Given the description of an element on the screen output the (x, y) to click on. 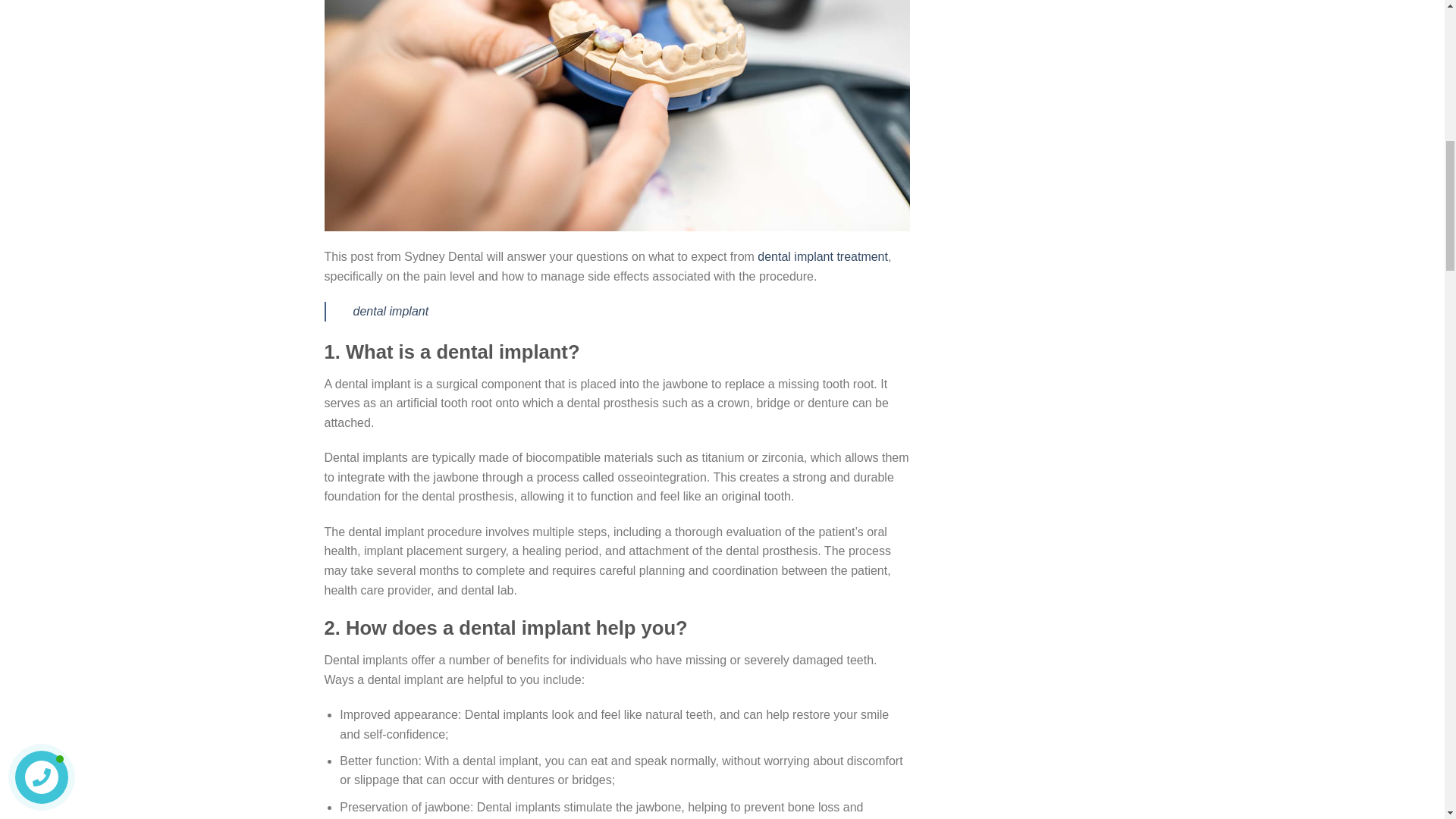
dental implant treatment (822, 256)
dental implant (391, 310)
